Given the description of an element on the screen output the (x, y) to click on. 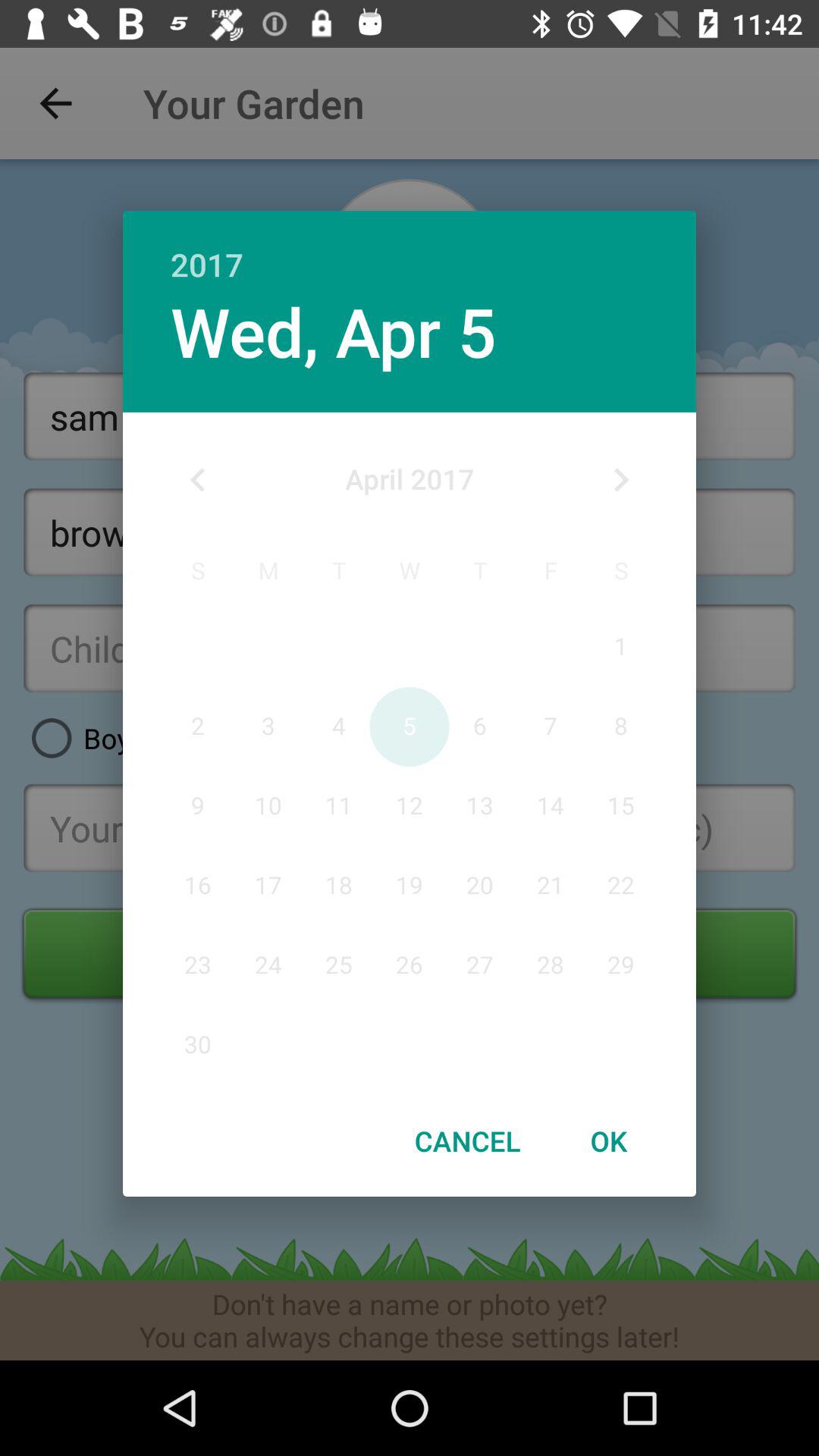
press the ok item (608, 1140)
